Given the description of an element on the screen output the (x, y) to click on. 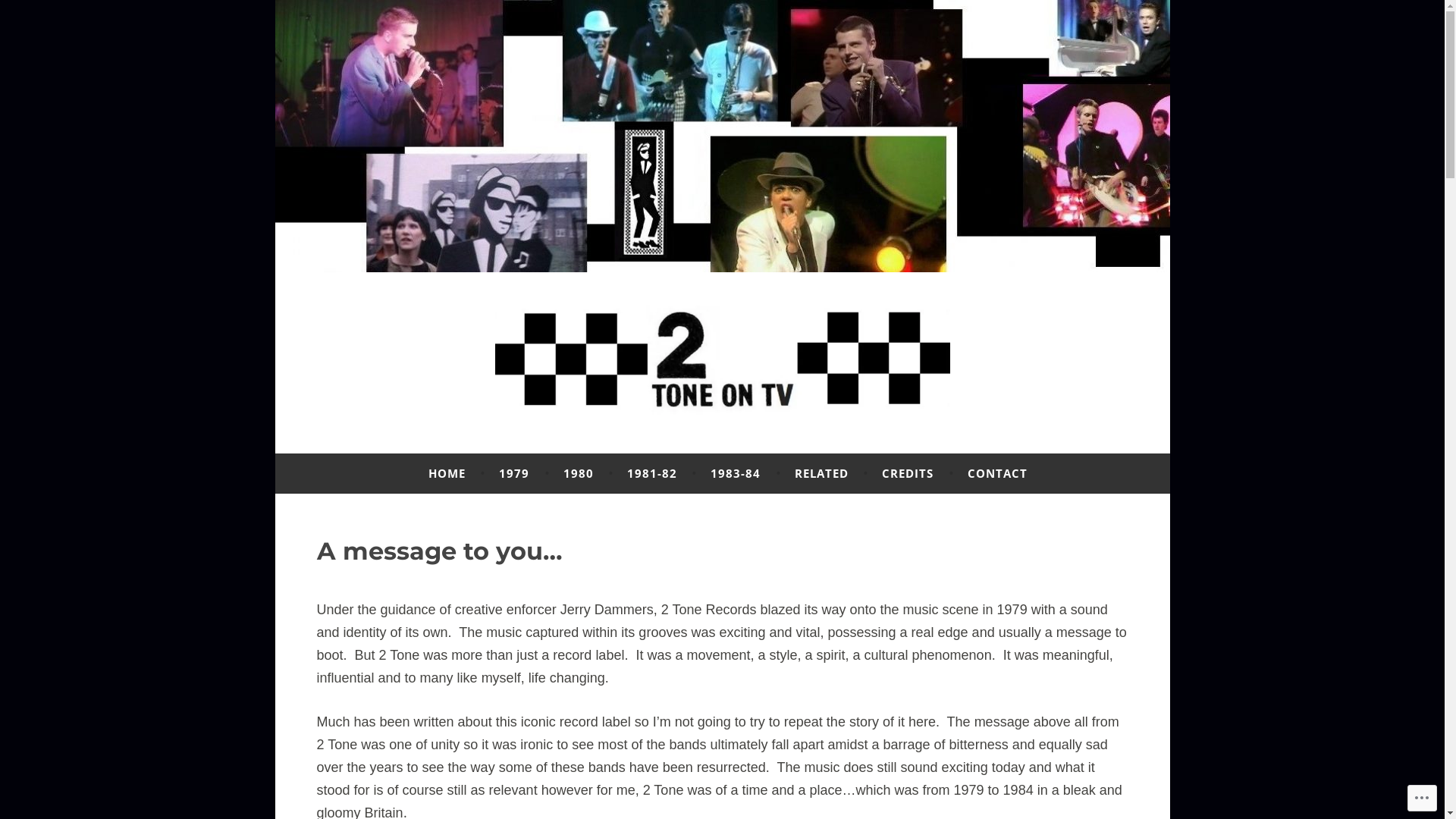
1981-82 Element type: text (652, 472)
CONTACT Element type: text (997, 472)
1980 Element type: text (578, 472)
1983-84 Element type: text (735, 472)
HOME Element type: text (446, 472)
www.2toneontv.com Element type: text (509, 447)
CREDITS Element type: text (907, 472)
RELATED Element type: text (821, 472)
1979 Element type: text (513, 472)
